Given the description of an element on the screen output the (x, y) to click on. 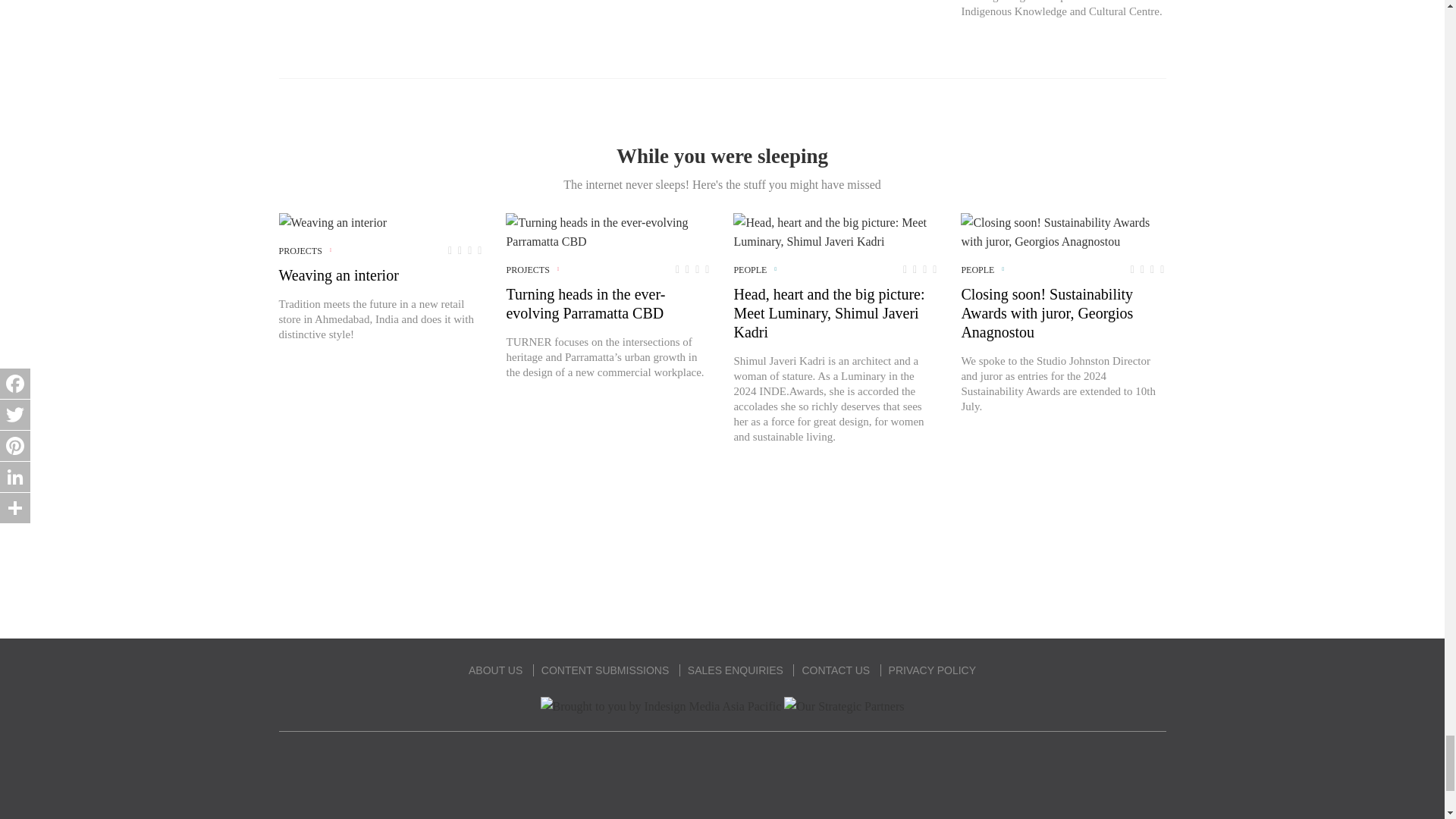
Weaving an interior (333, 221)
